Given the description of an element on the screen output the (x, y) to click on. 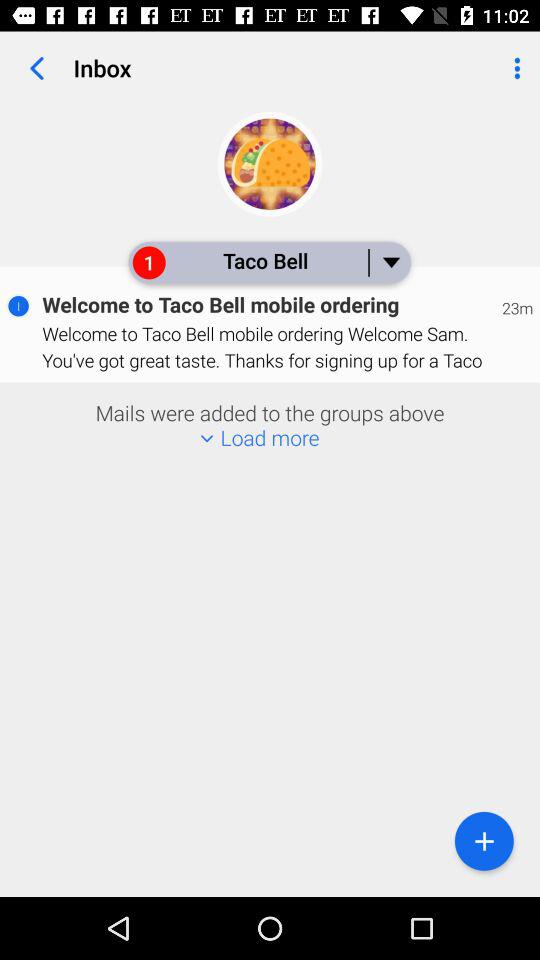
open the app next to inbox (36, 68)
